Given the description of an element on the screen output the (x, y) to click on. 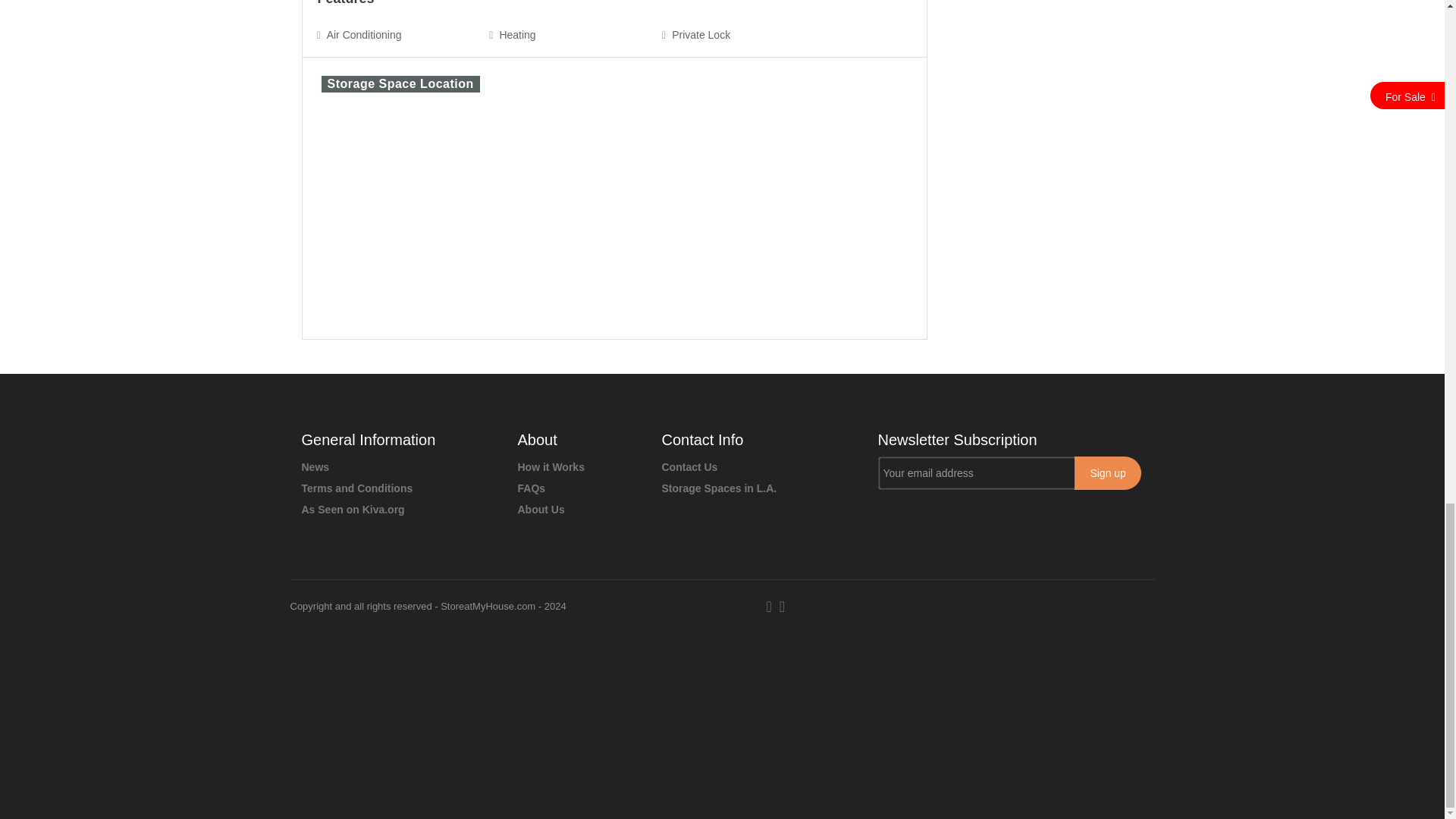
FAQs (530, 488)
Sign up (1107, 472)
How it Works (549, 467)
Private Lock (701, 34)
Heating (518, 34)
Air Conditioning (364, 34)
As Seen on Kiva.org (352, 509)
News (315, 467)
Terms and Conditions (357, 488)
